Given the description of an element on the screen output the (x, y) to click on. 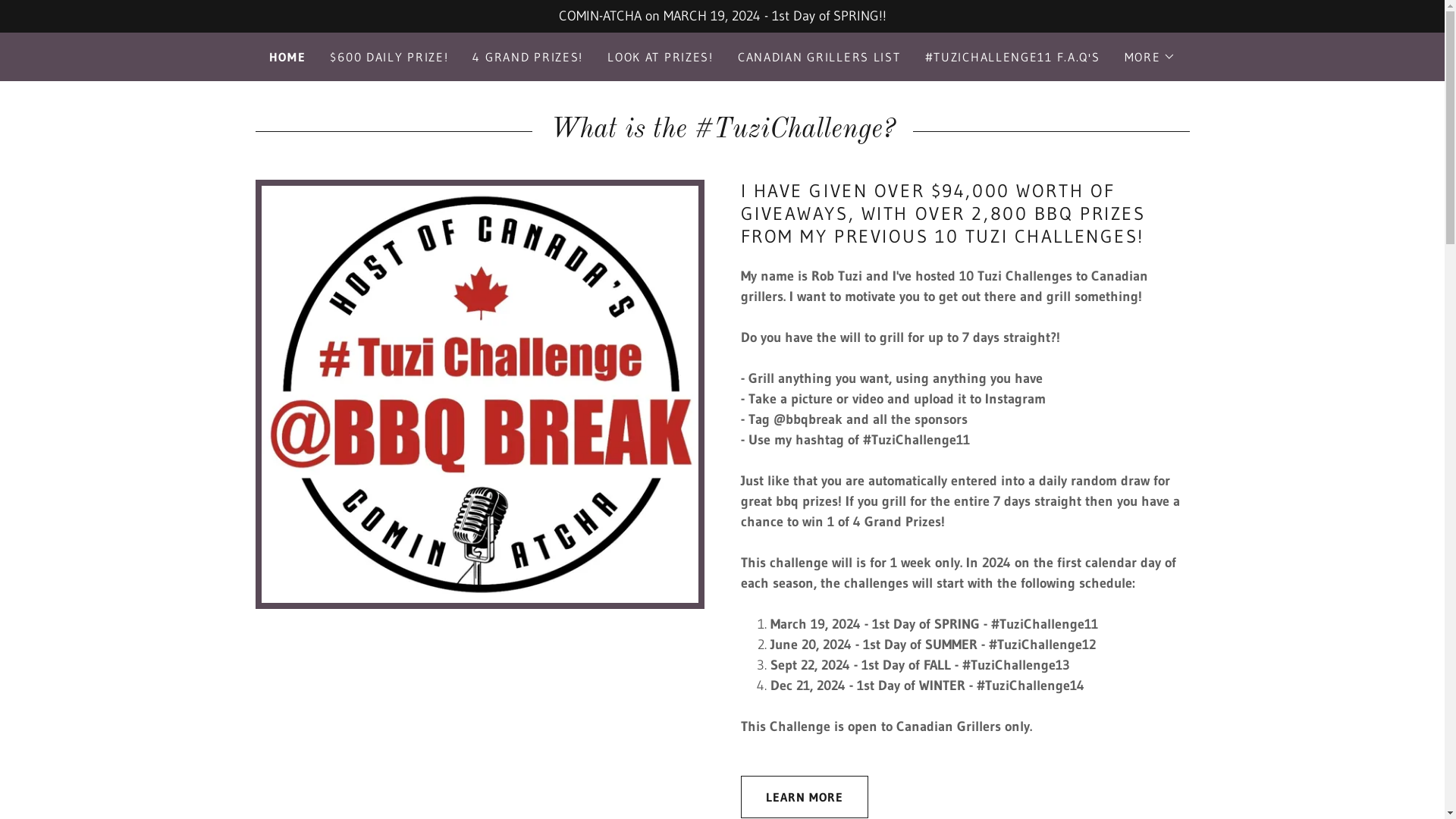
CANADIAN GRILLERS LIST Element type: text (819, 56)
$600 DAILY PRIZE! Element type: text (388, 56)
HOME Element type: text (287, 56)
#TUZICHALLENGE11 F.A.Q'S Element type: text (1012, 56)
4 GRAND PRIZES! Element type: text (527, 56)
LEARN MORE Element type: text (803, 796)
MORE Element type: text (1150, 56)
LOOK AT PRIZES! Element type: text (660, 56)
